Given the description of an element on the screen output the (x, y) to click on. 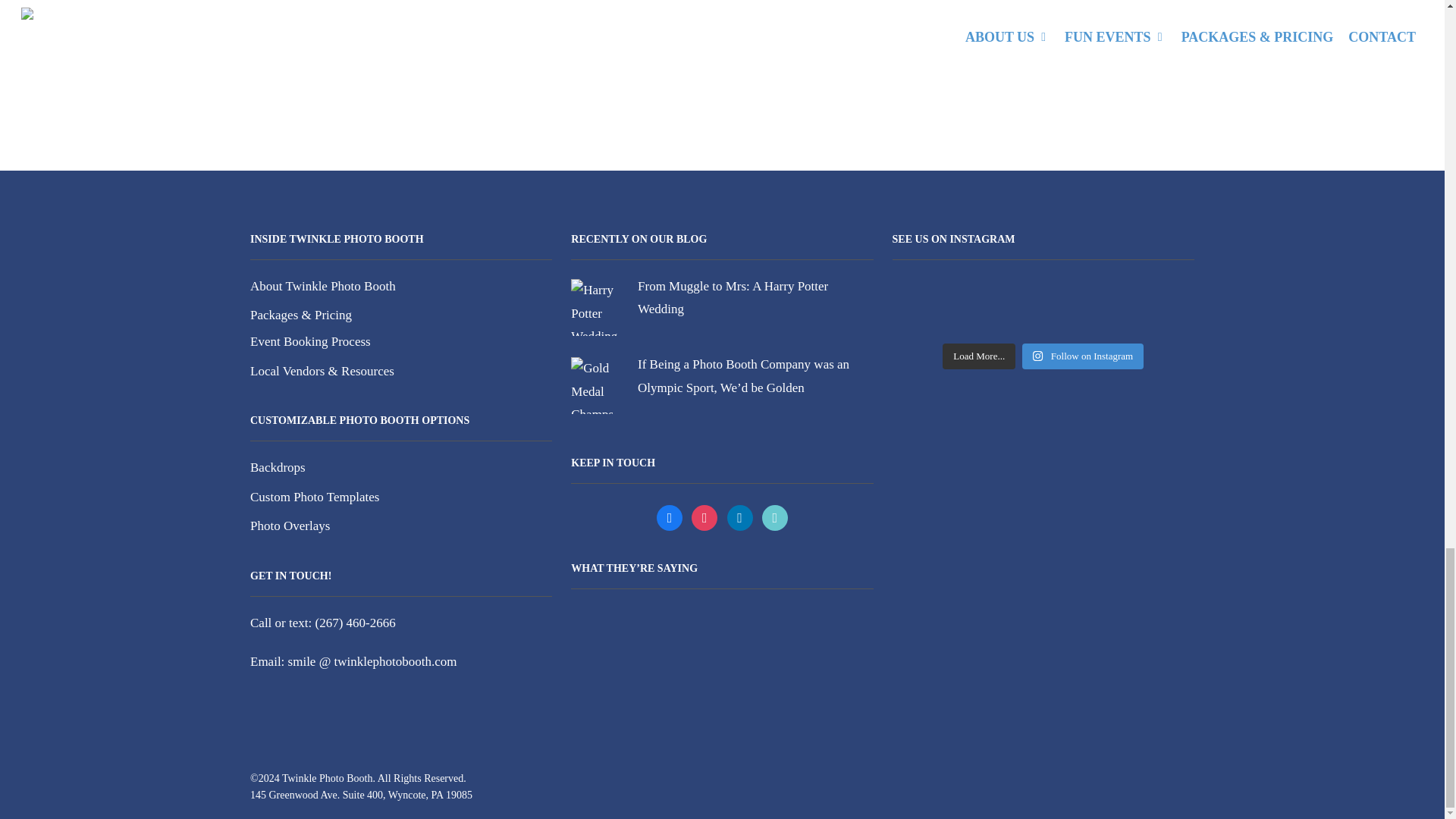
Twitter (704, 517)
Contact (479, 29)
Instagram (739, 517)
Facebook (669, 517)
